Given the description of an element on the screen output the (x, y) to click on. 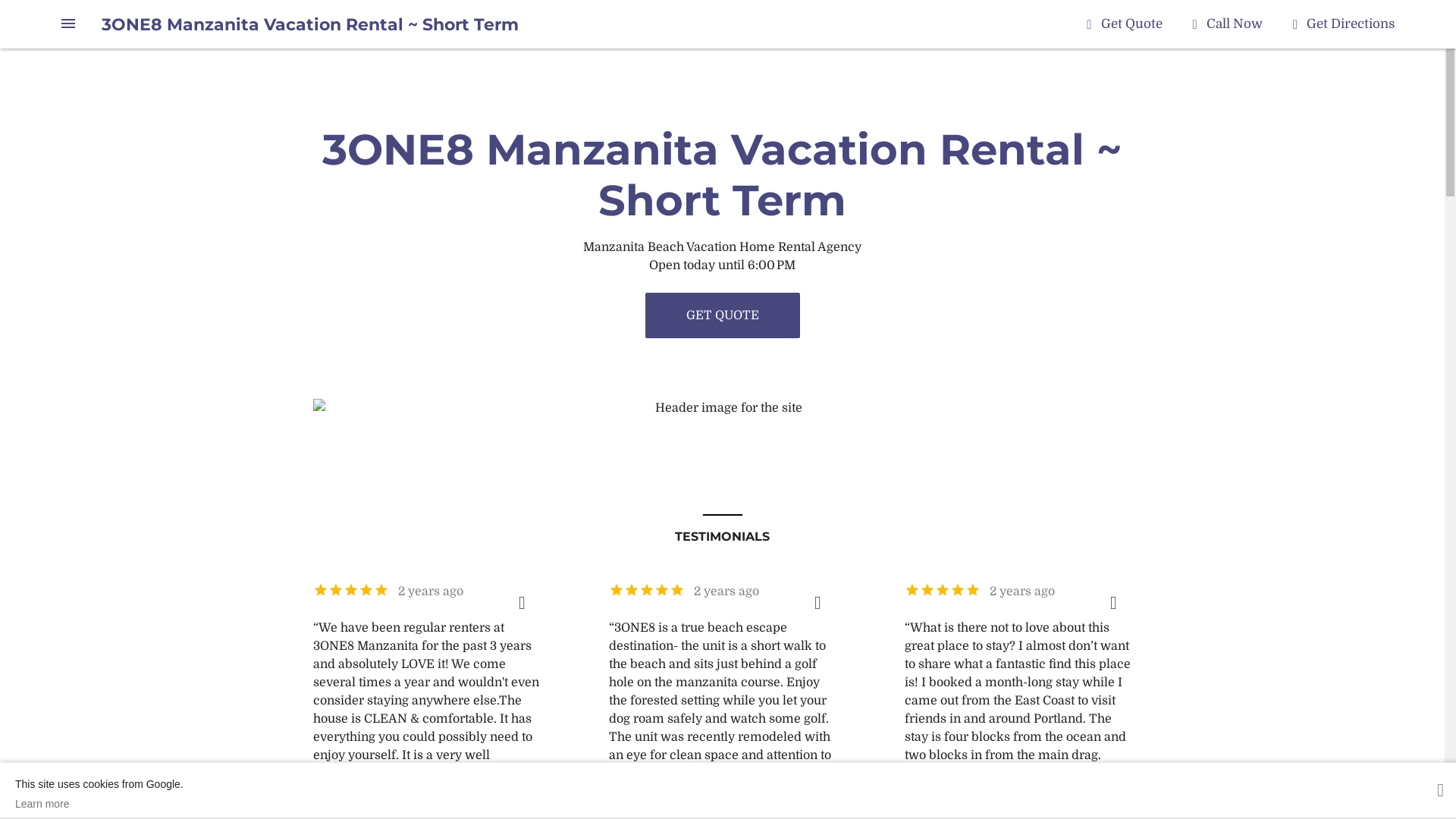
Learn more Element type: text (99, 803)
GET QUOTE Element type: text (721, 315)
3ONE8 Manzanita Vacation Rental ~ Short Term Element type: text (309, 23)
